Given the description of an element on the screen output the (x, y) to click on. 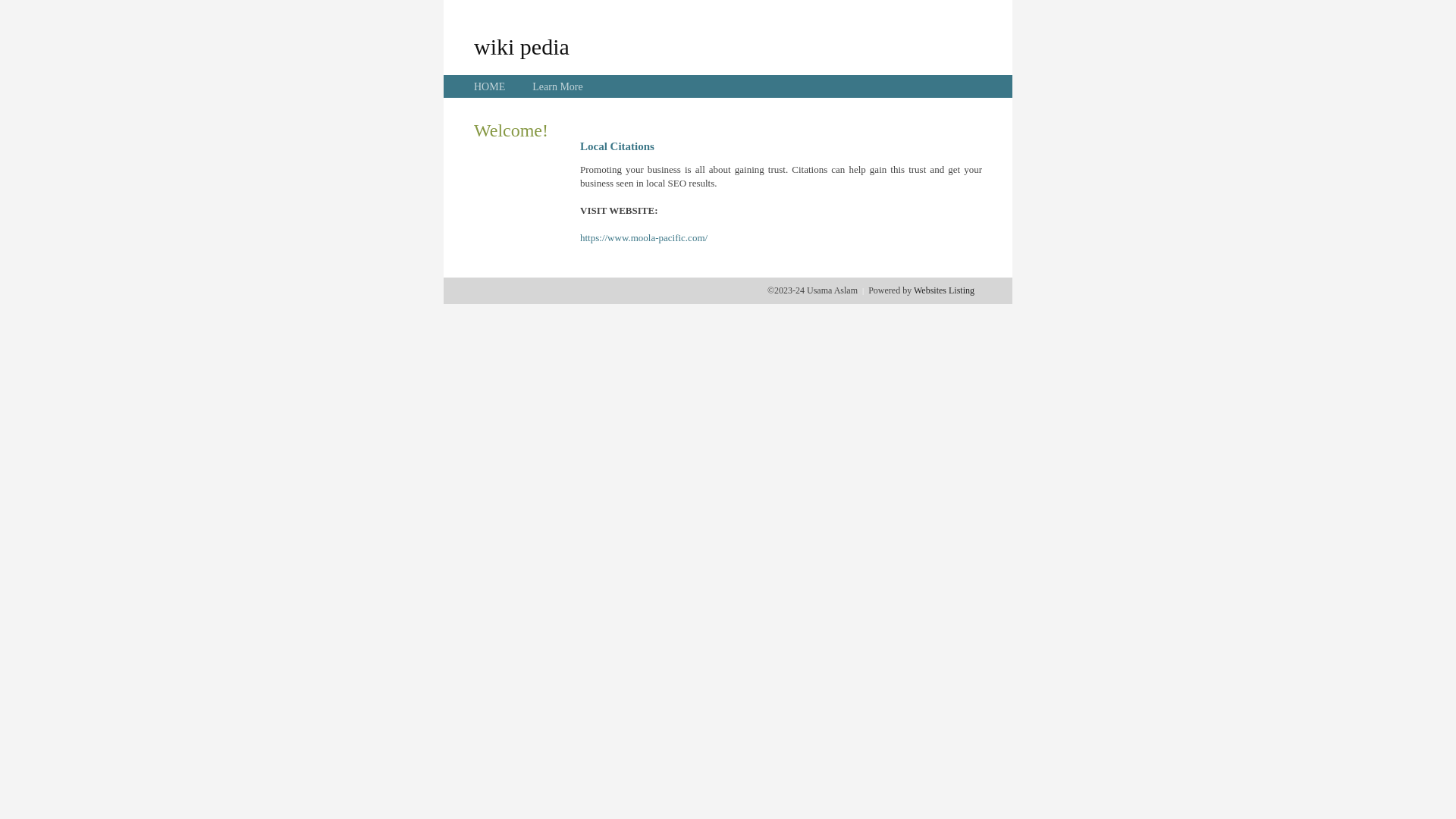
https://www.moola-pacific.com/ Element type: text (643, 237)
Learn More Element type: text (557, 86)
wiki pedia Element type: text (521, 46)
HOME Element type: text (489, 86)
Websites Listing Element type: text (943, 290)
